Given the description of an element on the screen output the (x, y) to click on. 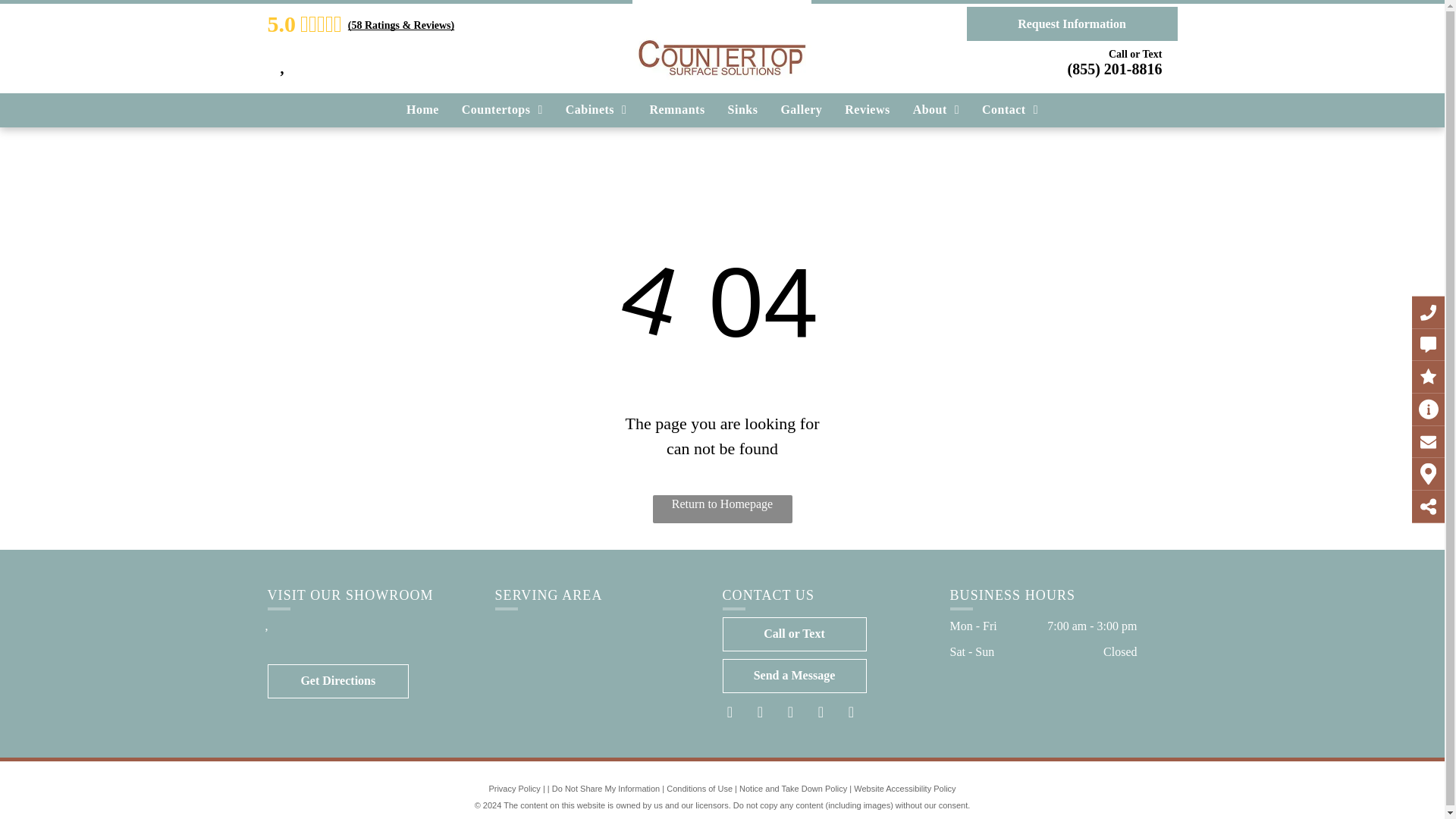
Send a Message (794, 675)
Gallery (800, 109)
Call or Text (794, 634)
Request Information (1071, 23)
Remnants (676, 109)
Reviews (866, 109)
About (936, 109)
Contact (1010, 109)
Sinks (743, 109)
Get Directions (337, 681)
Home (421, 109)
Return to Homepage (722, 509)
Cabinets (596, 109)
Countertops (501, 109)
